Given the description of an element on the screen output the (x, y) to click on. 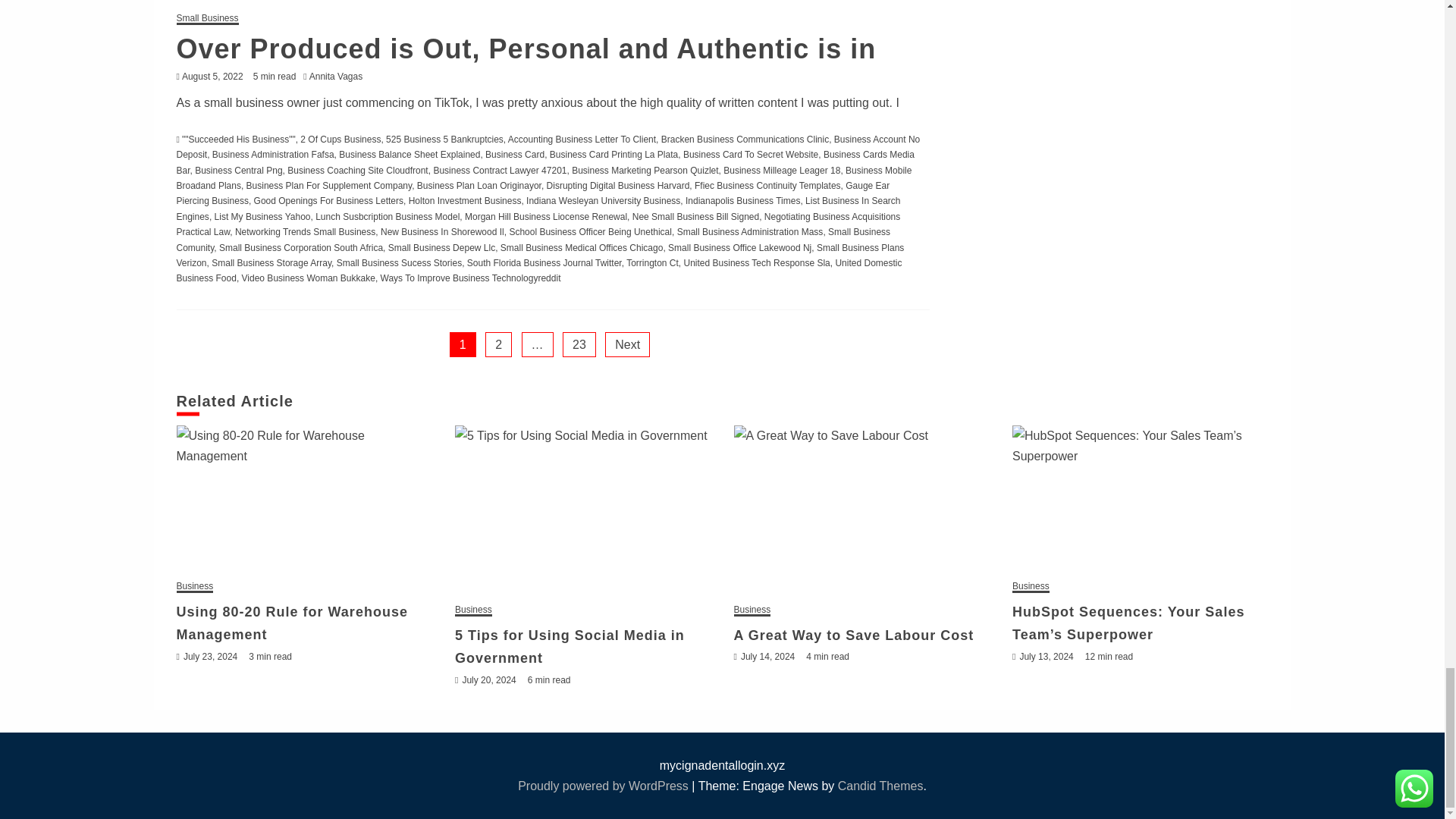
5 Tips for Using Social Media in Government (582, 510)
A Great Way to Save Labour Cost (861, 510)
Using 80-20 Rule for Warehouse Management (304, 498)
